Given the description of an element on the screen output the (x, y) to click on. 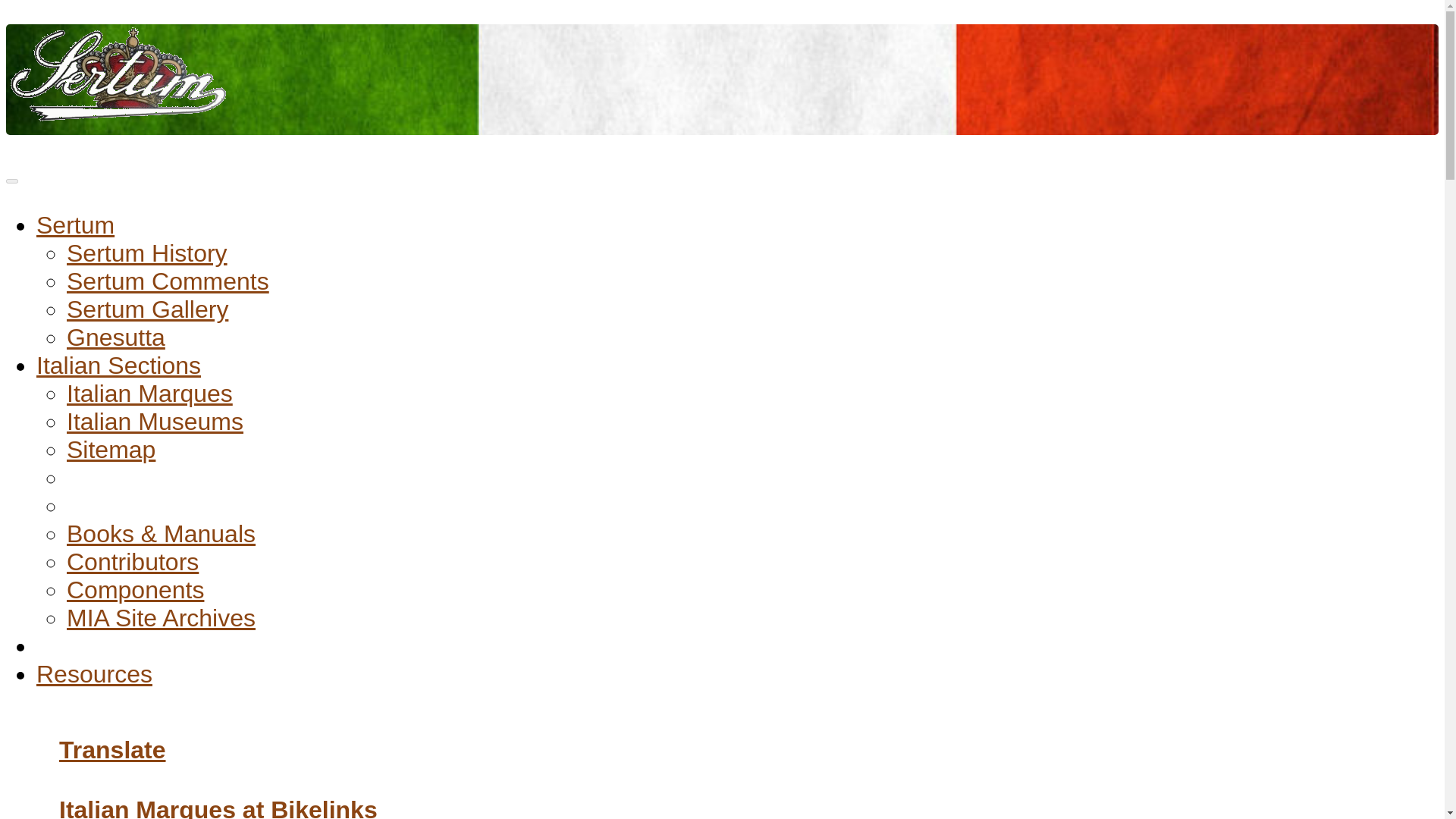
Contributors (132, 561)
Sertum Comments (167, 280)
Italian Marques at Bikelinks (218, 807)
Gnesutta (115, 337)
Italian Sections (118, 365)
Components (134, 589)
Translate (112, 749)
Italian Museums (154, 420)
Sertum (75, 225)
Sertum Gallery (147, 308)
Resources (94, 673)
Gnesutta 1899-1900 (115, 337)
Sitemap (110, 449)
MIA Site Archives (161, 617)
Sertum Motorcycles (118, 76)
